Given the description of an element on the screen output the (x, y) to click on. 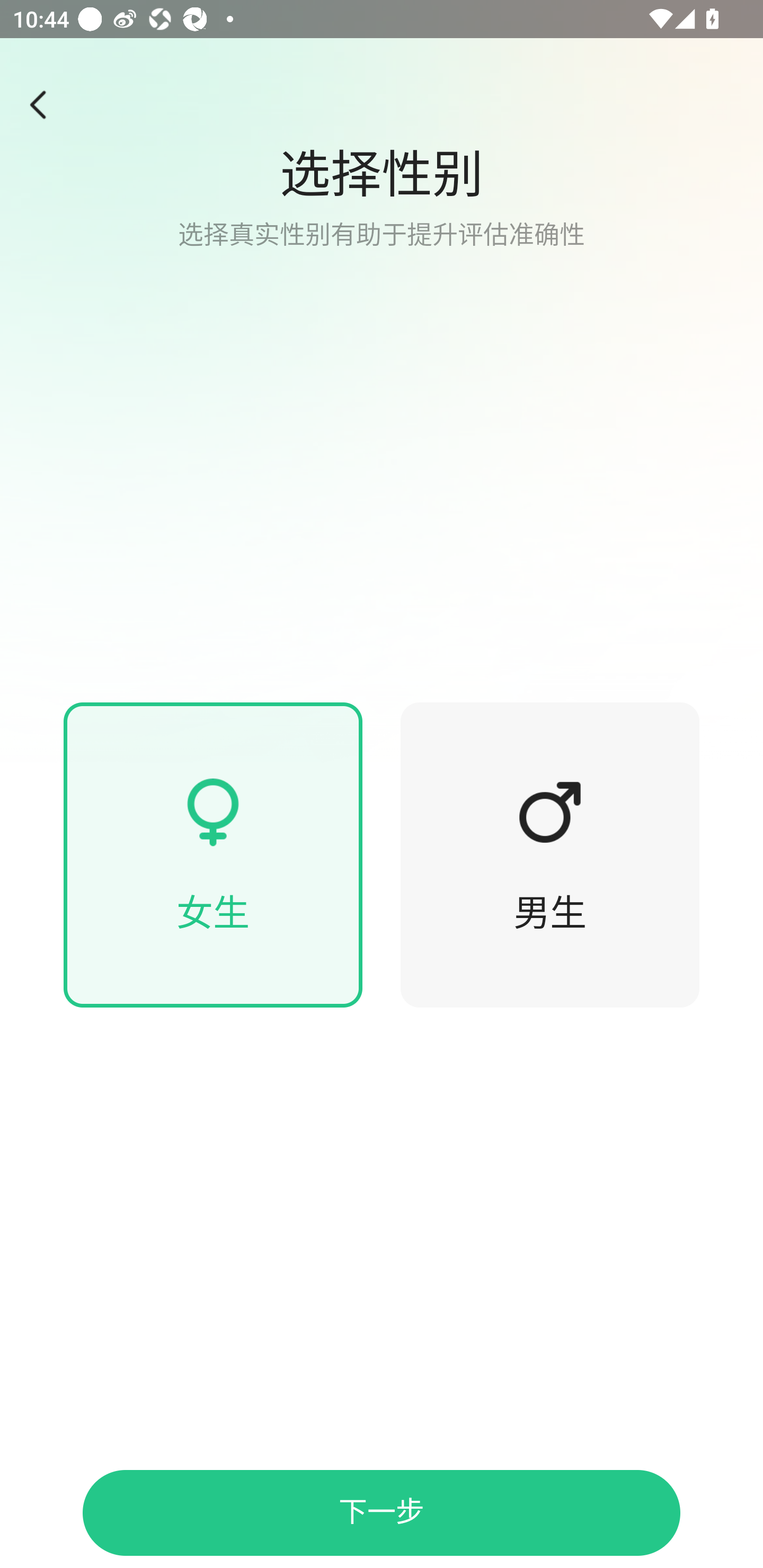
1 (381, 381)
1 (44, 104)
1 女生 (212, 855)
1 男生 (549, 855)
1 (212, 811)
1 (549, 811)
下一步 (381, 1512)
